Given the description of an element on the screen output the (x, y) to click on. 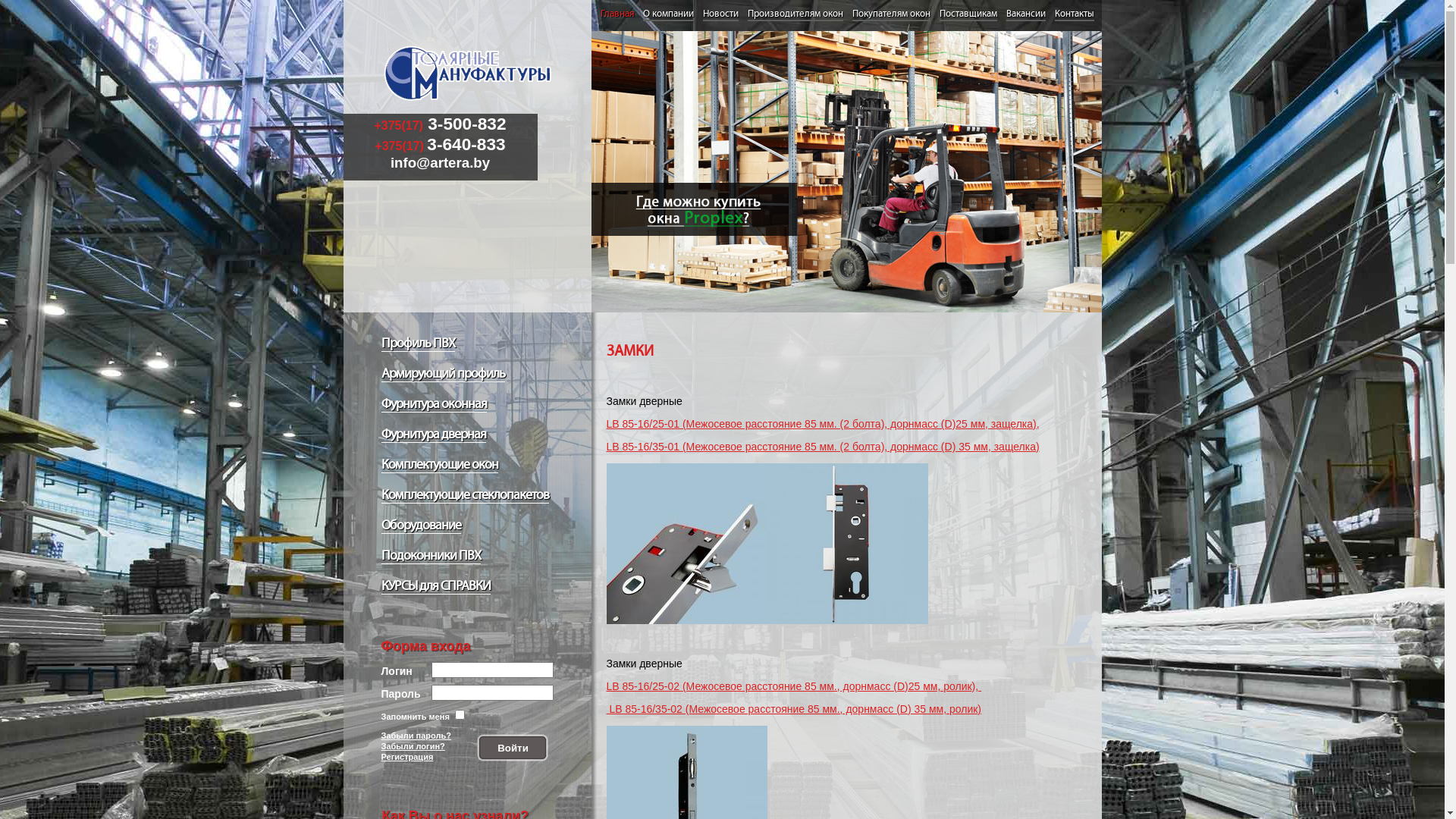
info@artera.by Element type: text (439, 162)
